Given the description of an element on the screen output the (x, y) to click on. 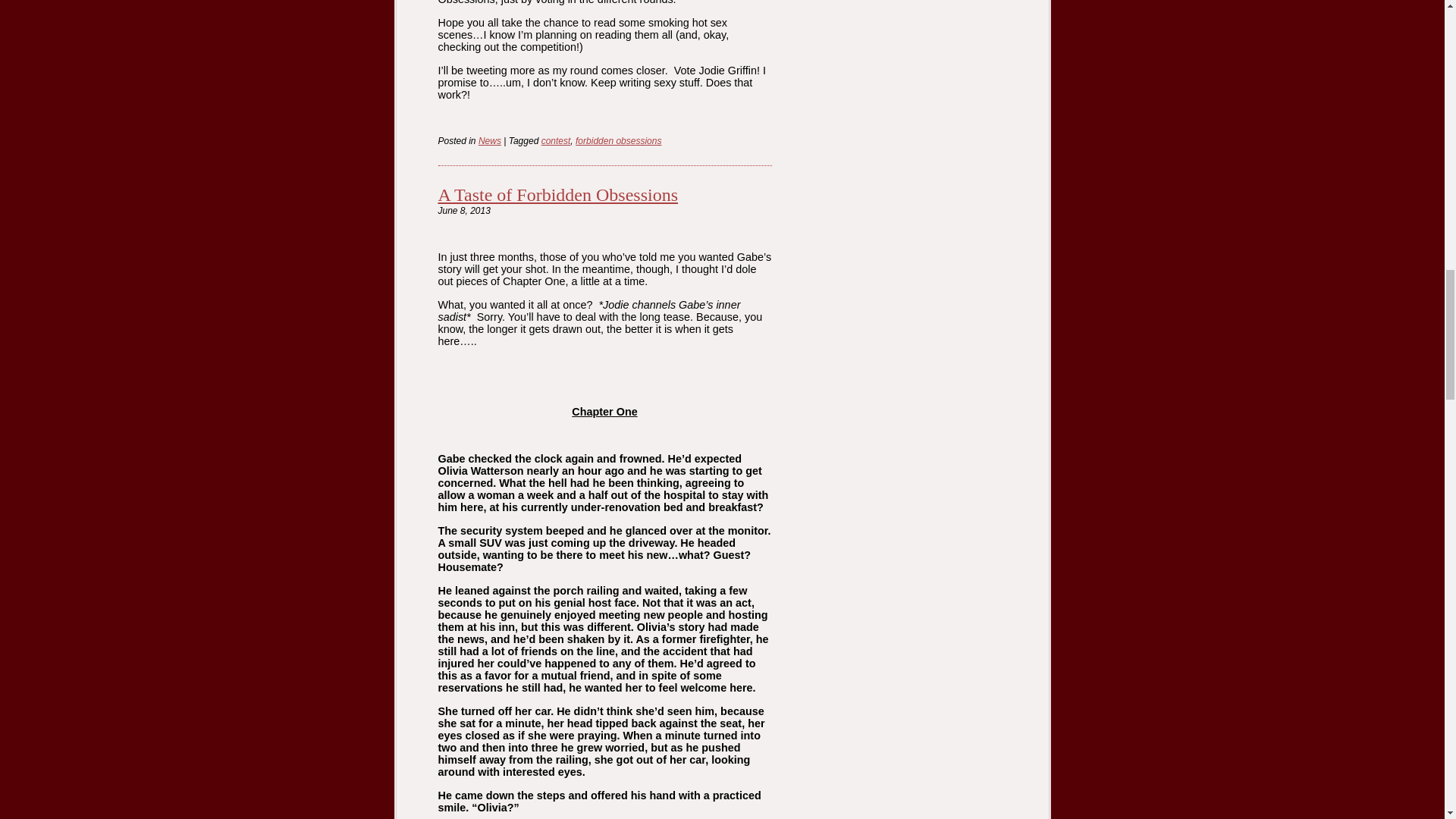
forbidden obsessions (618, 140)
A Taste of Forbidden Obsessions (558, 194)
News (489, 140)
contest (555, 140)
Permalink to A Taste of Forbidden Obsessions (558, 194)
